Given the description of an element on the screen output the (x, y) to click on. 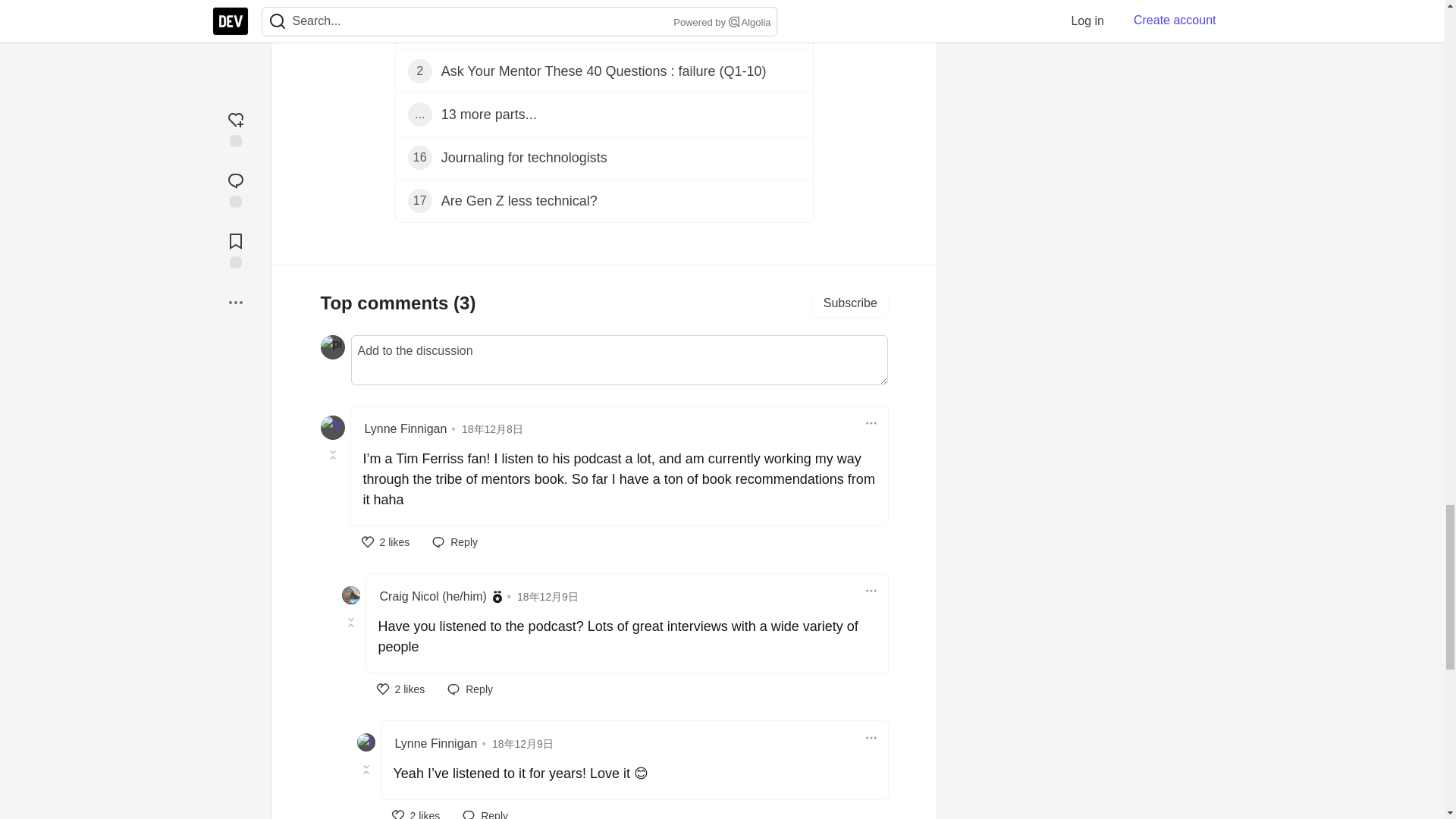
Dropdown menu (870, 590)
Dropdown menu (870, 737)
Dropdown menu (870, 423)
